Given the description of an element on the screen output the (x, y) to click on. 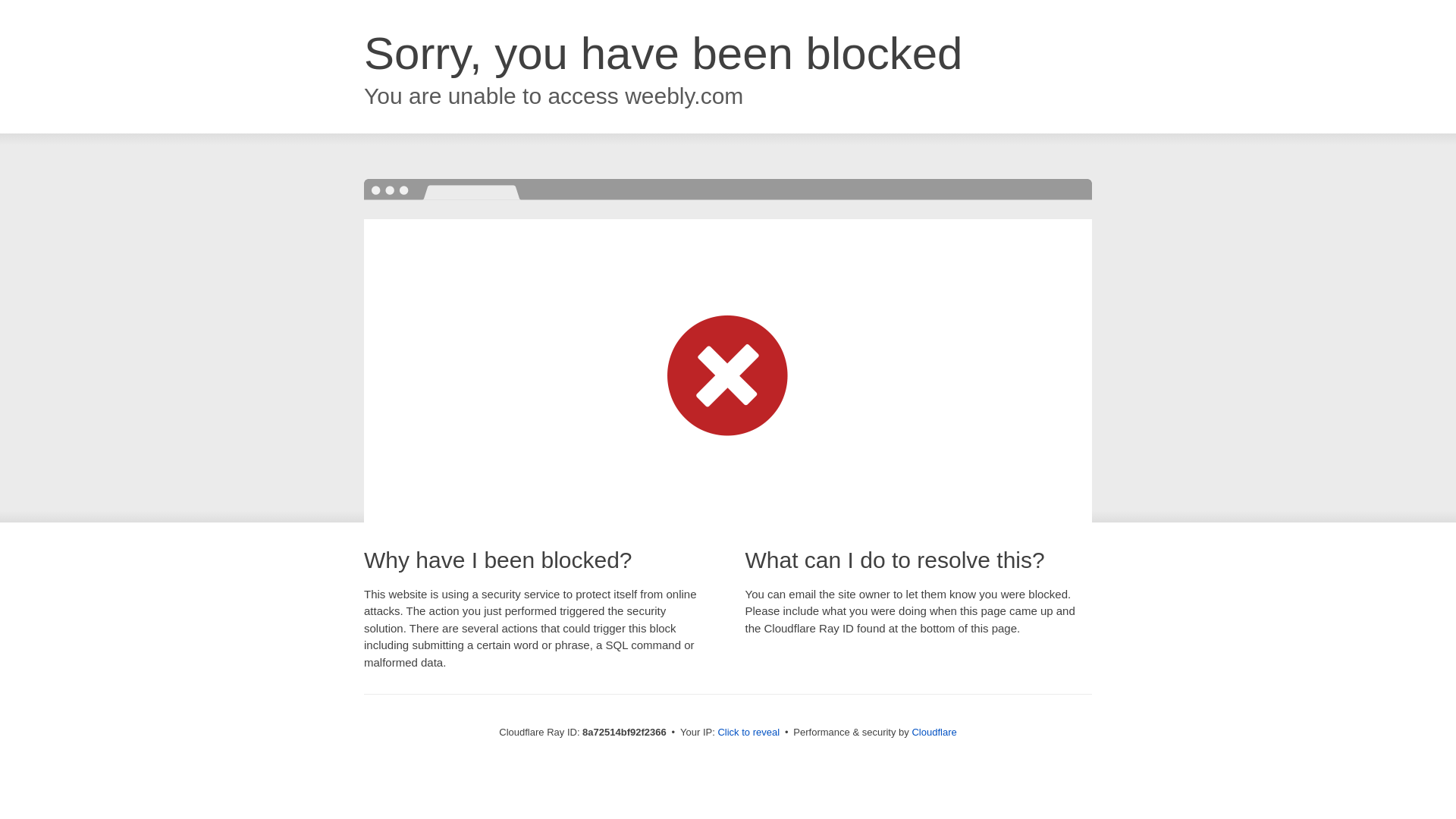
Click to reveal (747, 732)
Cloudflare (933, 731)
